Given the description of an element on the screen output the (x, y) to click on. 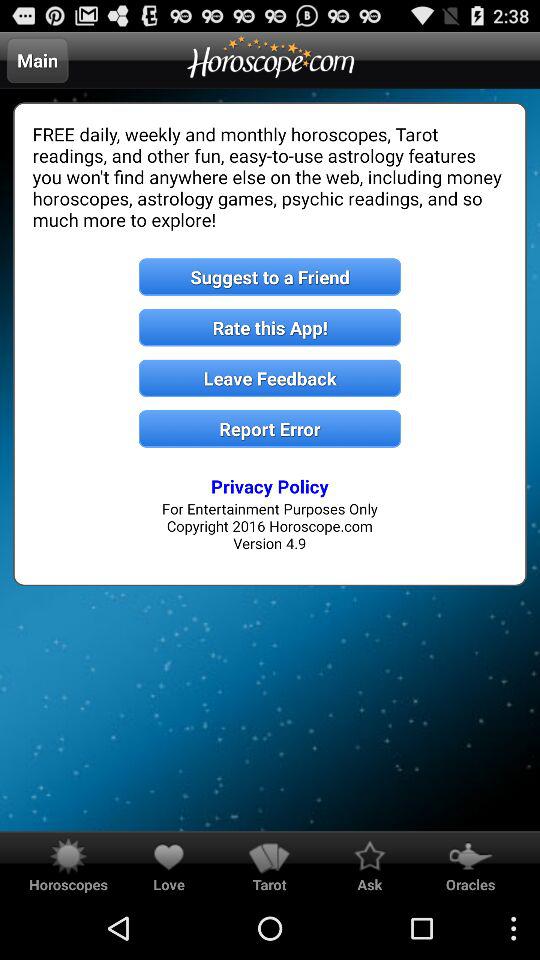
launch the icon above the for entertainment purposes (269, 486)
